Given the description of an element on the screen output the (x, y) to click on. 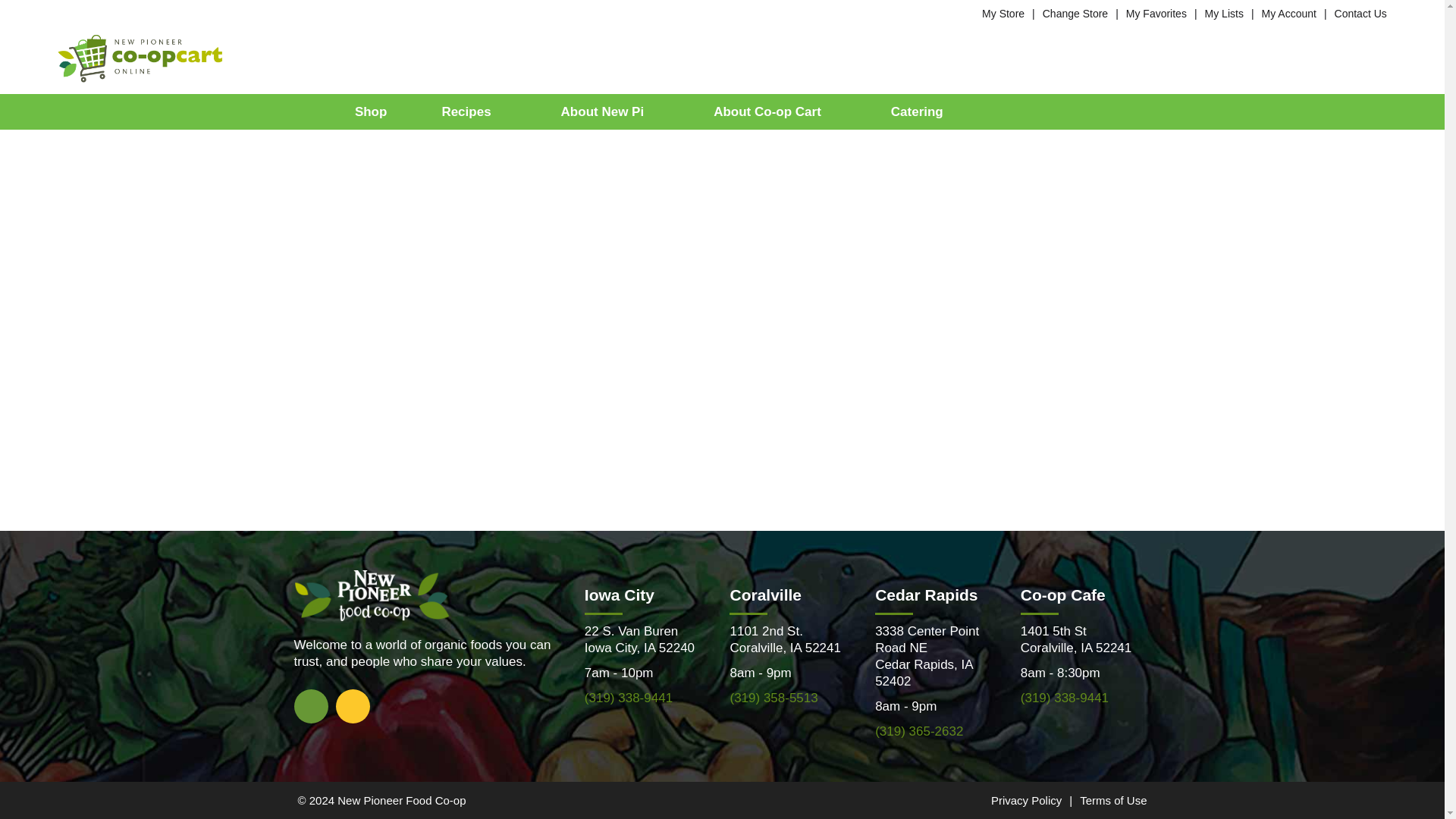
Privacy Policy (1026, 799)
Terms of Use (1113, 799)
Recipes (472, 111)
My Account (1289, 13)
Shop (370, 111)
About Co-op Cart (774, 111)
My Lists (1224, 13)
Catering (917, 111)
instagram (351, 705)
Contact Us (1361, 13)
